Given the description of an element on the screen output the (x, y) to click on. 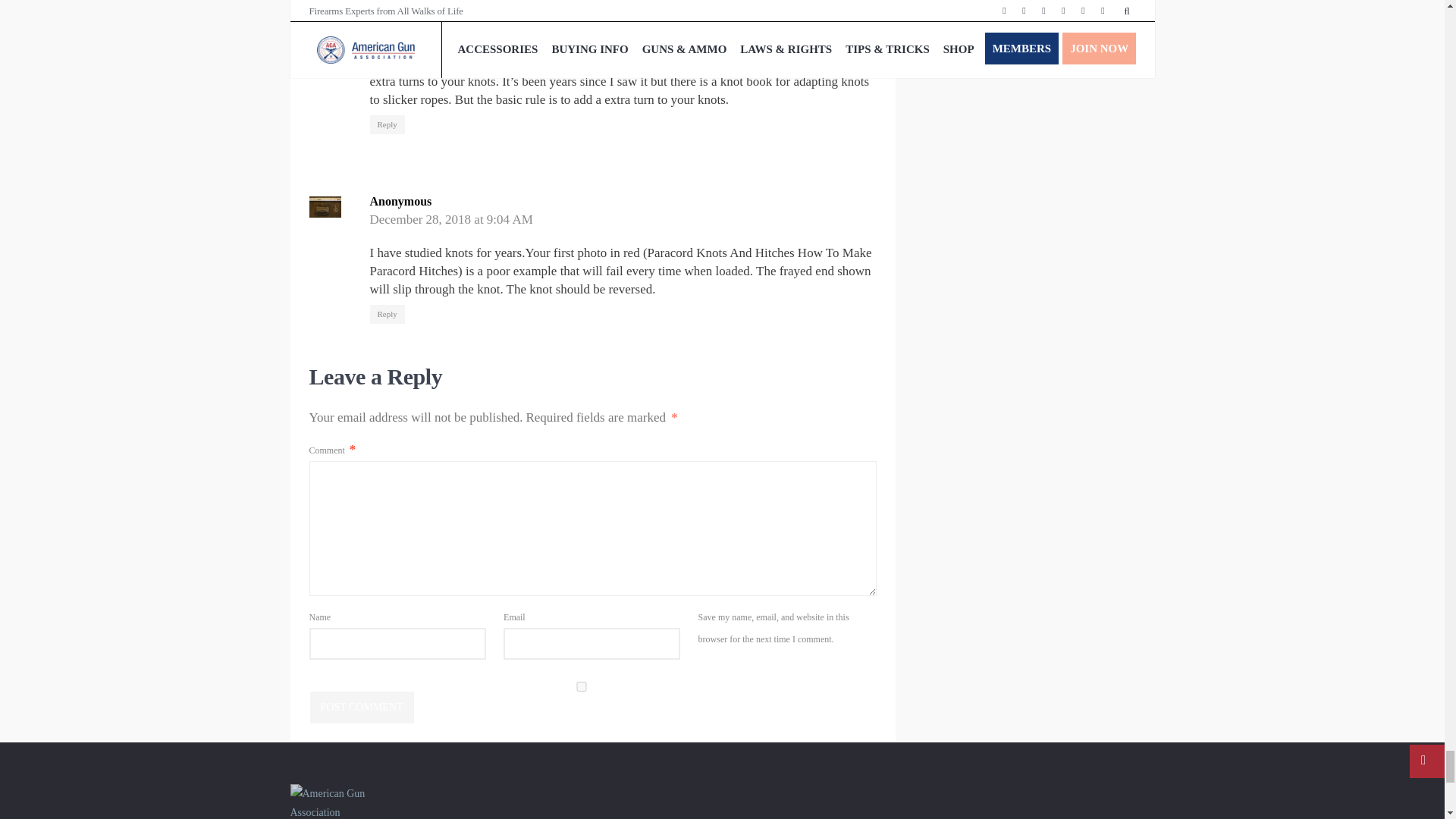
Post Comment (360, 707)
yes (580, 686)
